Given the description of an element on the screen output the (x, y) to click on. 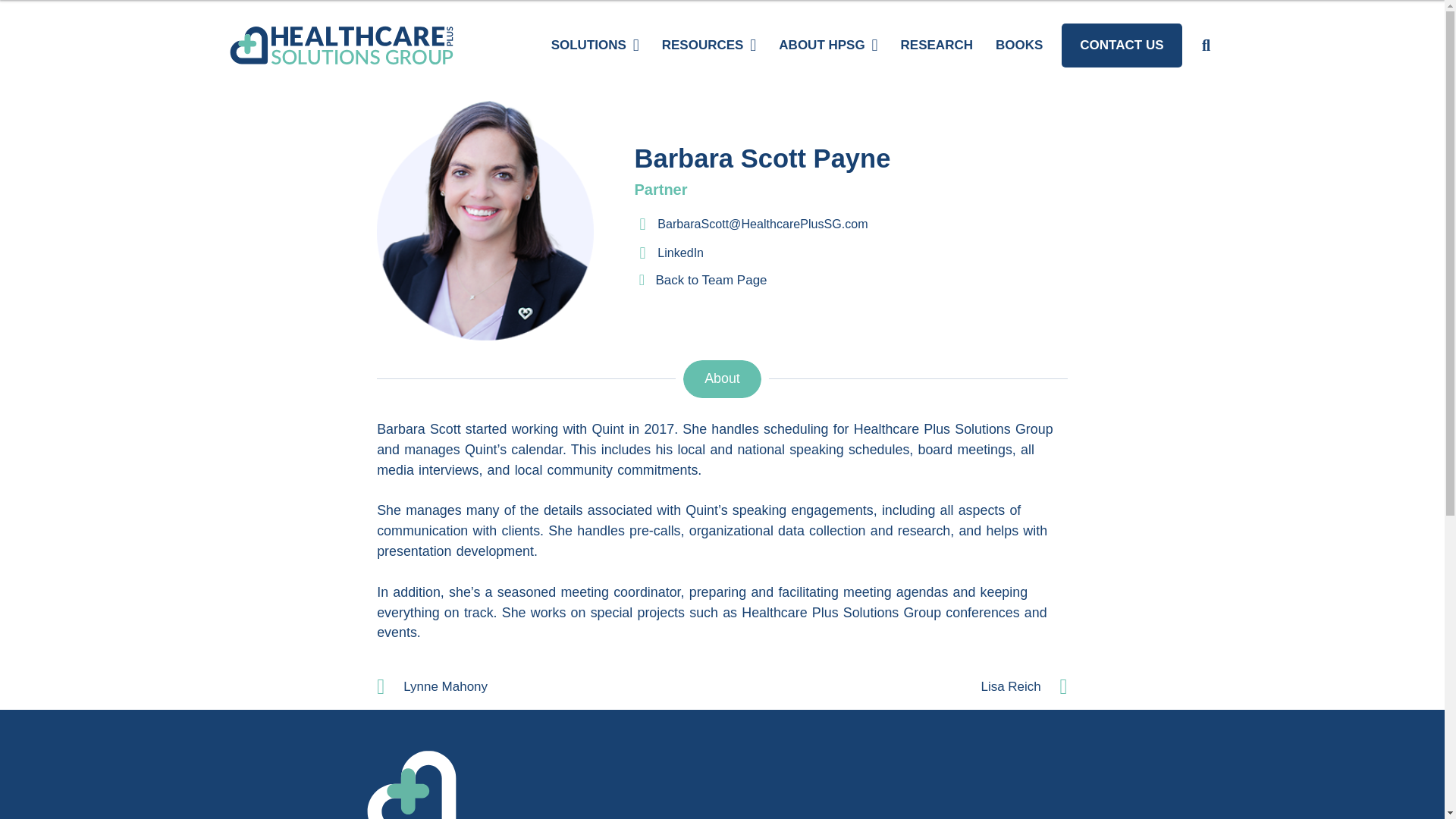
SOLUTIONS (595, 45)
LinkedIn (680, 252)
Back to Team Page (711, 279)
Lisa Reich (894, 686)
Lisa Reich (894, 686)
Back to Team Page (642, 279)
About (721, 379)
Lynne Mahony (549, 686)
CONTACT US (1120, 45)
RESEARCH (936, 45)
Lynne Mahony (549, 686)
Back to Team Page (711, 279)
RESOURCES (709, 45)
ABOUT HPSG (827, 45)
